Given the description of an element on the screen output the (x, y) to click on. 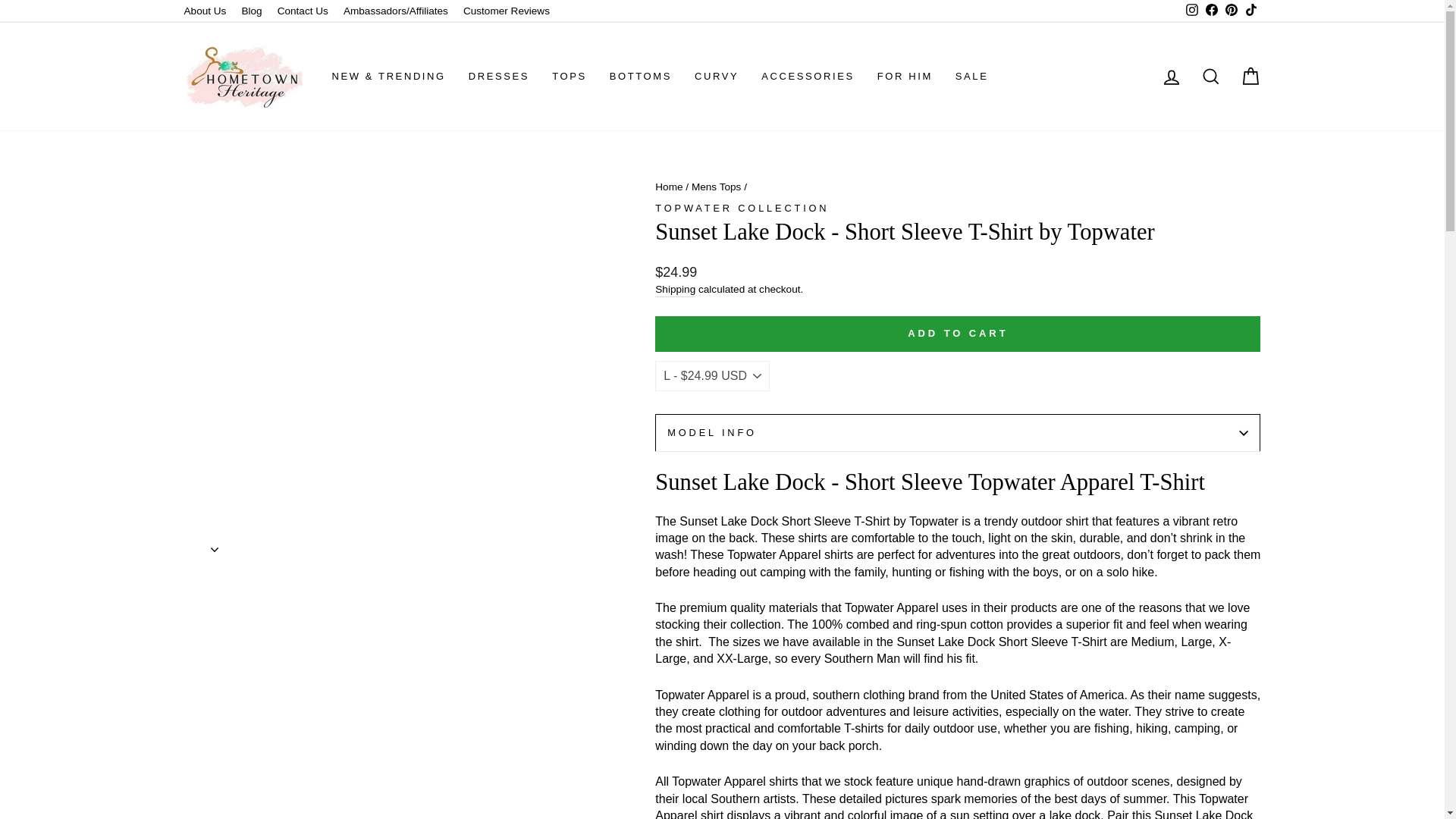
Hometown Heritage Boutique on TikTok (1250, 11)
Back to the frontpage (668, 186)
Hometown Heritage Boutique on Facebook (1211, 11)
Topwater Collection (741, 207)
Hometown Heritage Boutique on Instagram (1190, 11)
Hometown Heritage Boutique on Pinterest (1230, 11)
